Given the description of an element on the screen output the (x, y) to click on. 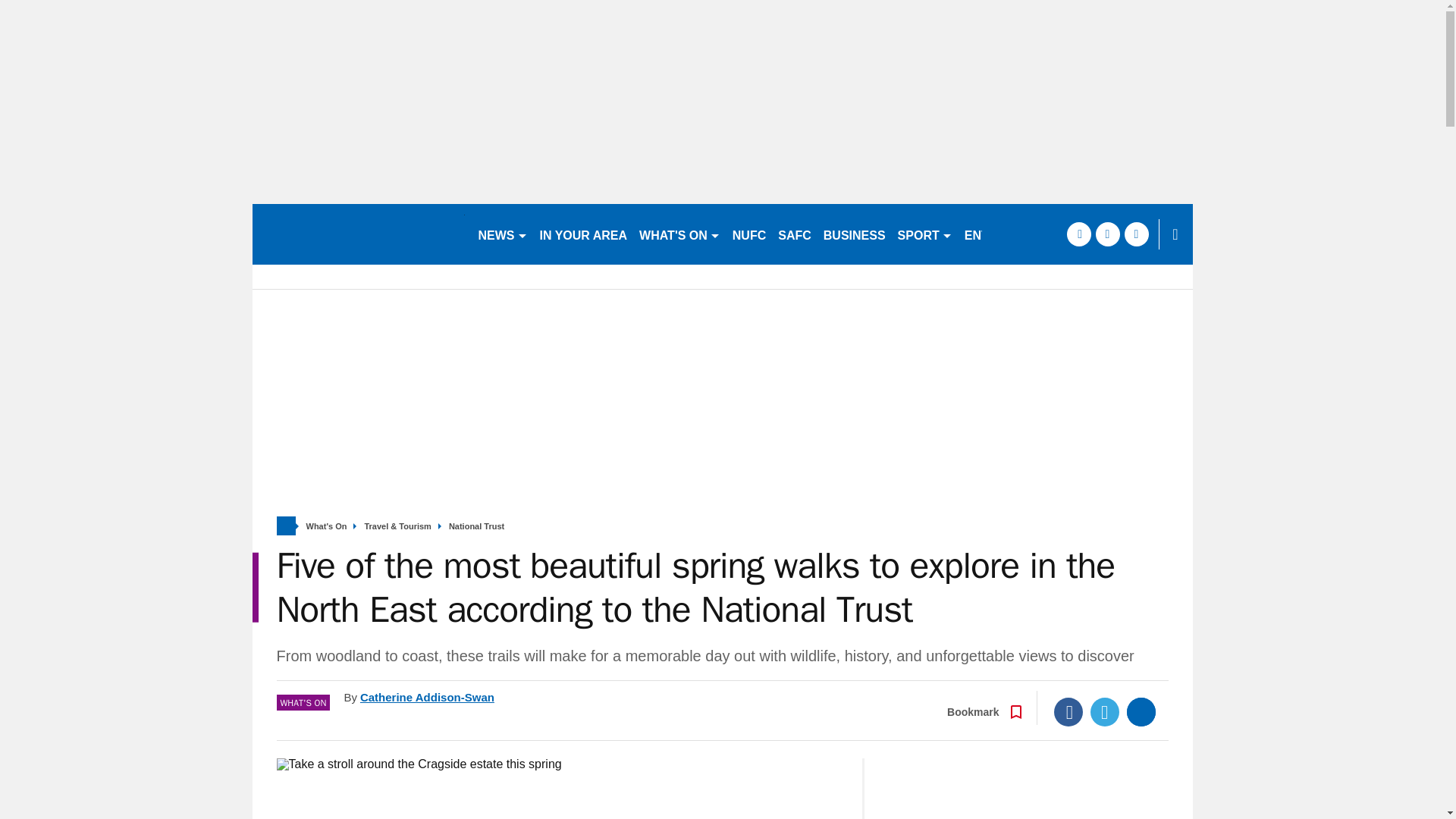
twitter (1106, 233)
SPORT (924, 233)
Facebook (1068, 711)
facebook (1077, 233)
nechronicle (357, 233)
BUSINESS (853, 233)
instagram (1136, 233)
NEWS (501, 233)
IN YOUR AREA (583, 233)
Twitter (1104, 711)
WHAT'S ON (679, 233)
